Given the description of an element on the screen output the (x, y) to click on. 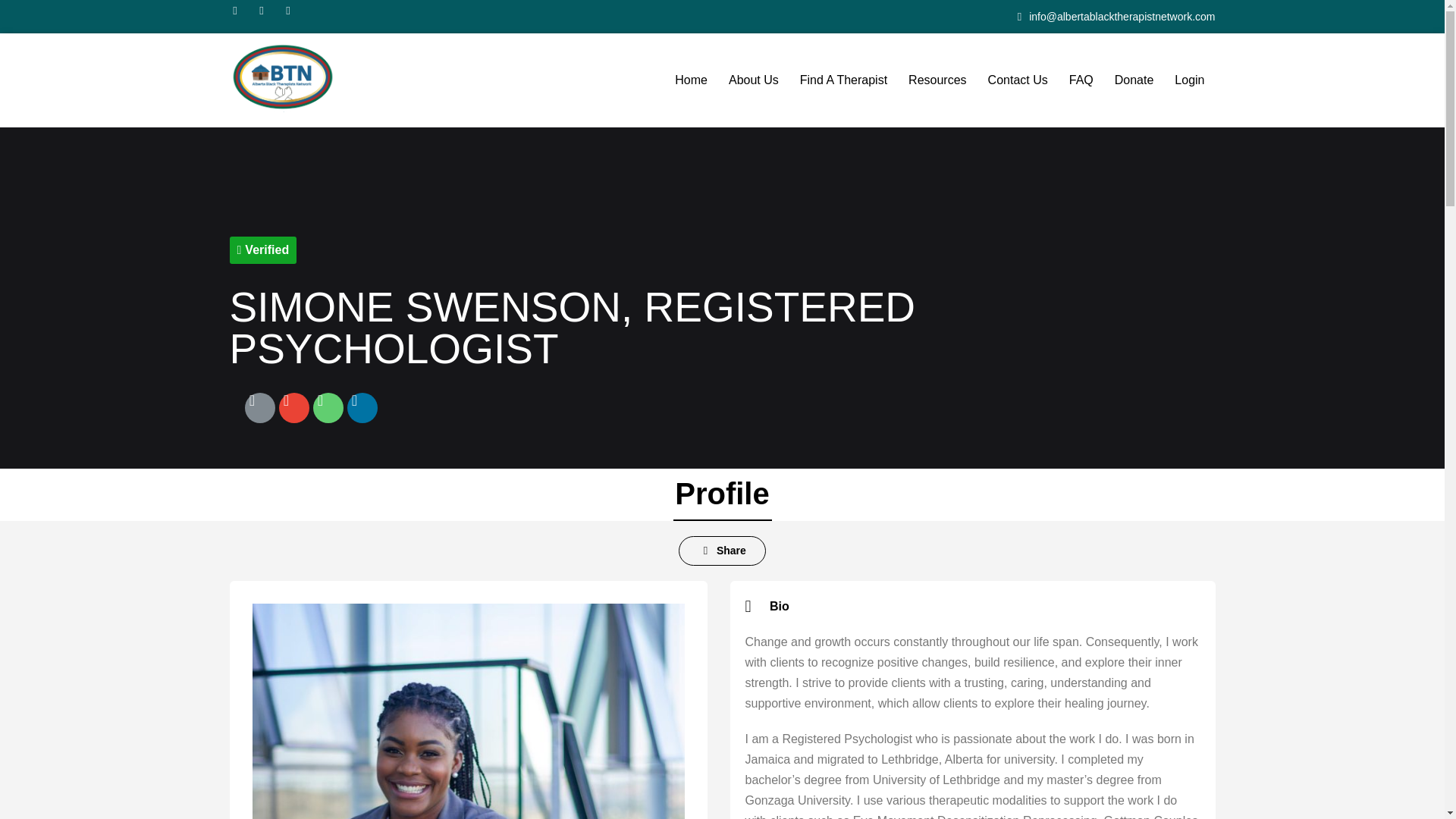
Home (690, 80)
Login (1188, 80)
About Us (753, 80)
Find A Therapist (843, 80)
Contact Us (1017, 80)
Resources (937, 80)
FAQ (1080, 80)
Donate (1133, 80)
